Given the description of an element on the screen output the (x, y) to click on. 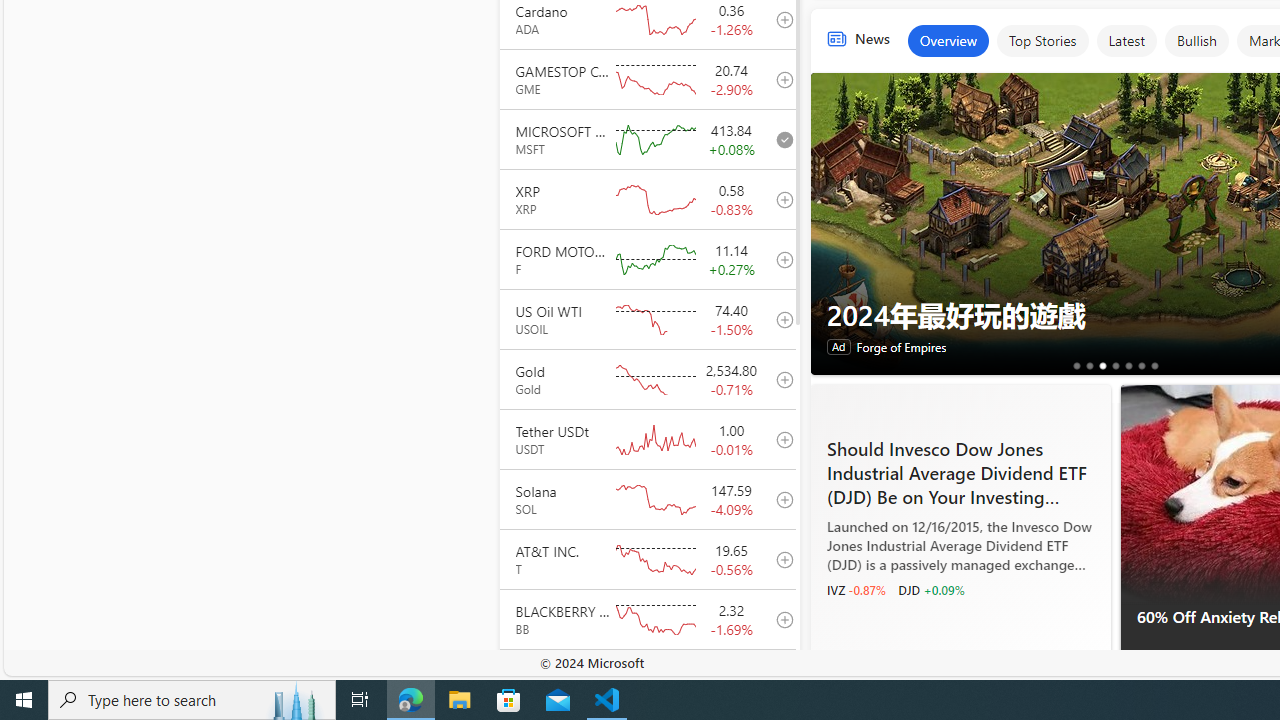
add to your watchlist (779, 678)
Zacks.com (834, 664)
Latest (1126, 40)
Top Stories (1041, 40)
